Given the description of an element on the screen output the (x, y) to click on. 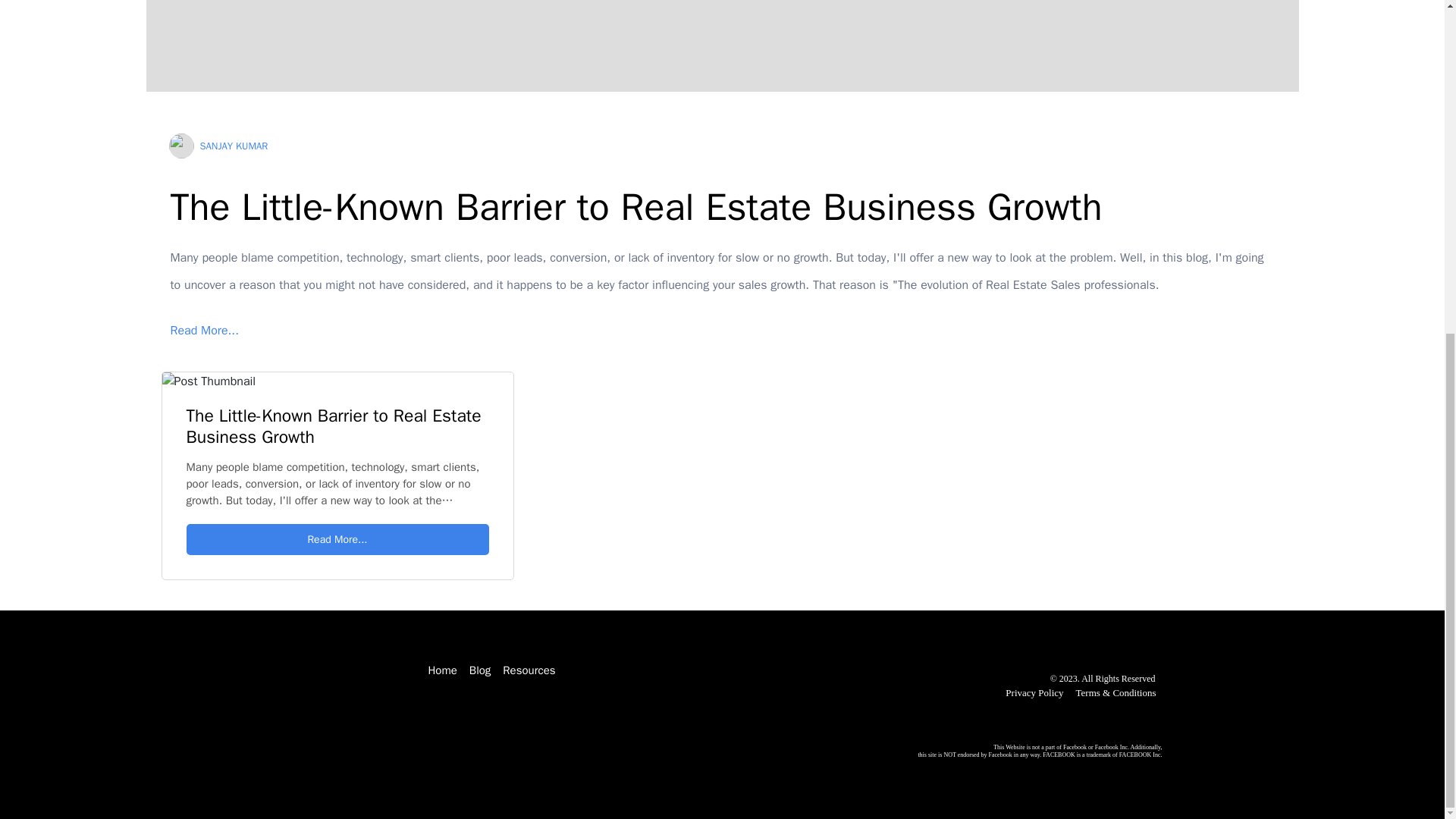
Blog (479, 670)
Resources (528, 670)
Home (442, 670)
Read More... (722, 330)
Read More... (337, 539)
Privacy Policy (1034, 693)
